Given the description of an element on the screen output the (x, y) to click on. 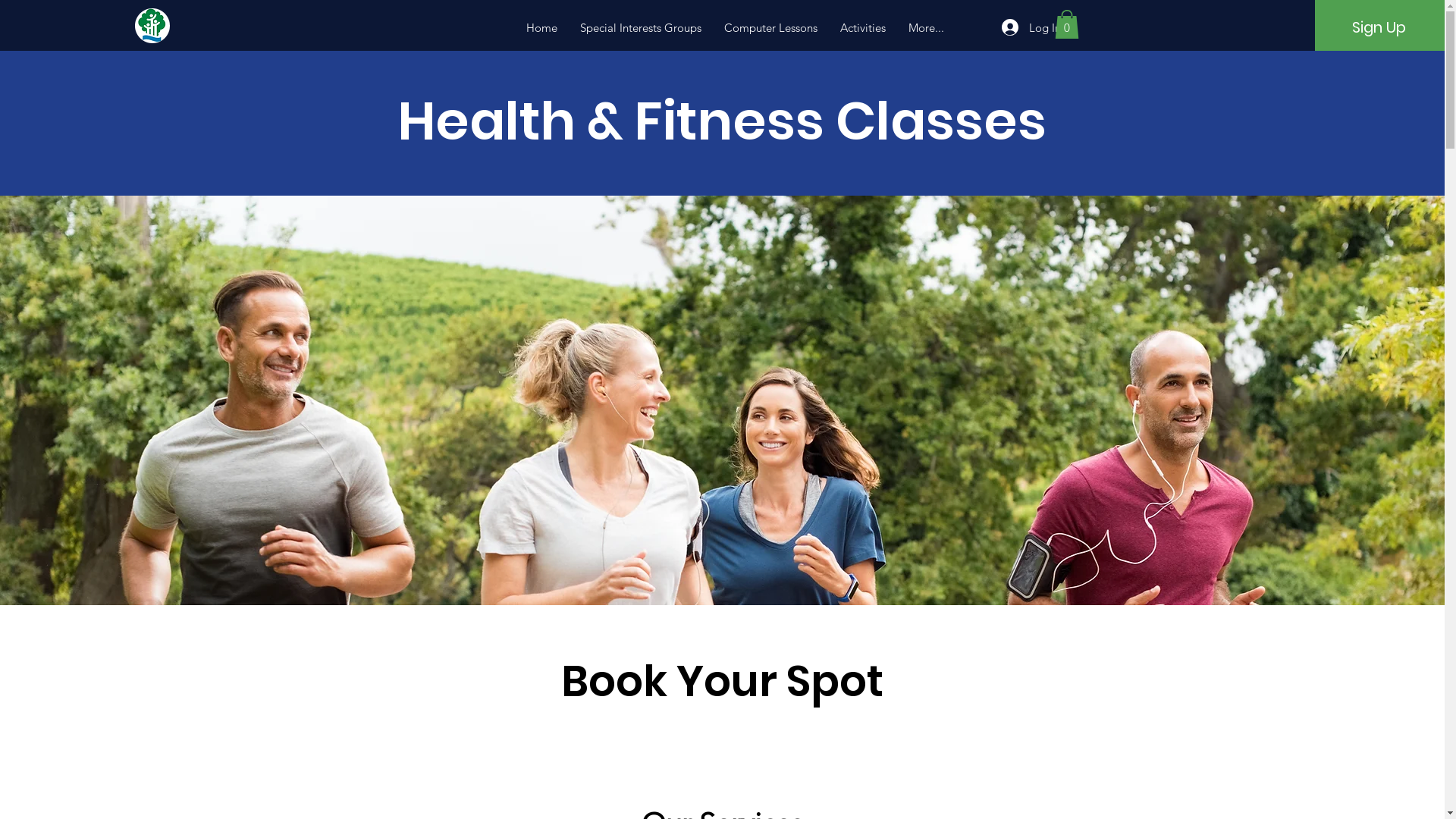
Sign Up Element type: text (1378, 27)
Home Element type: text (541, 27)
Activities Element type: text (862, 27)
Log In Element type: text (1031, 27)
NBCC_Logo_Transparent.png Element type: hover (151, 25)
Computer Lessons Element type: text (770, 27)
Special Interests Groups Element type: text (640, 27)
0 Element type: text (1066, 23)
